Given the description of an element on the screen output the (x, y) to click on. 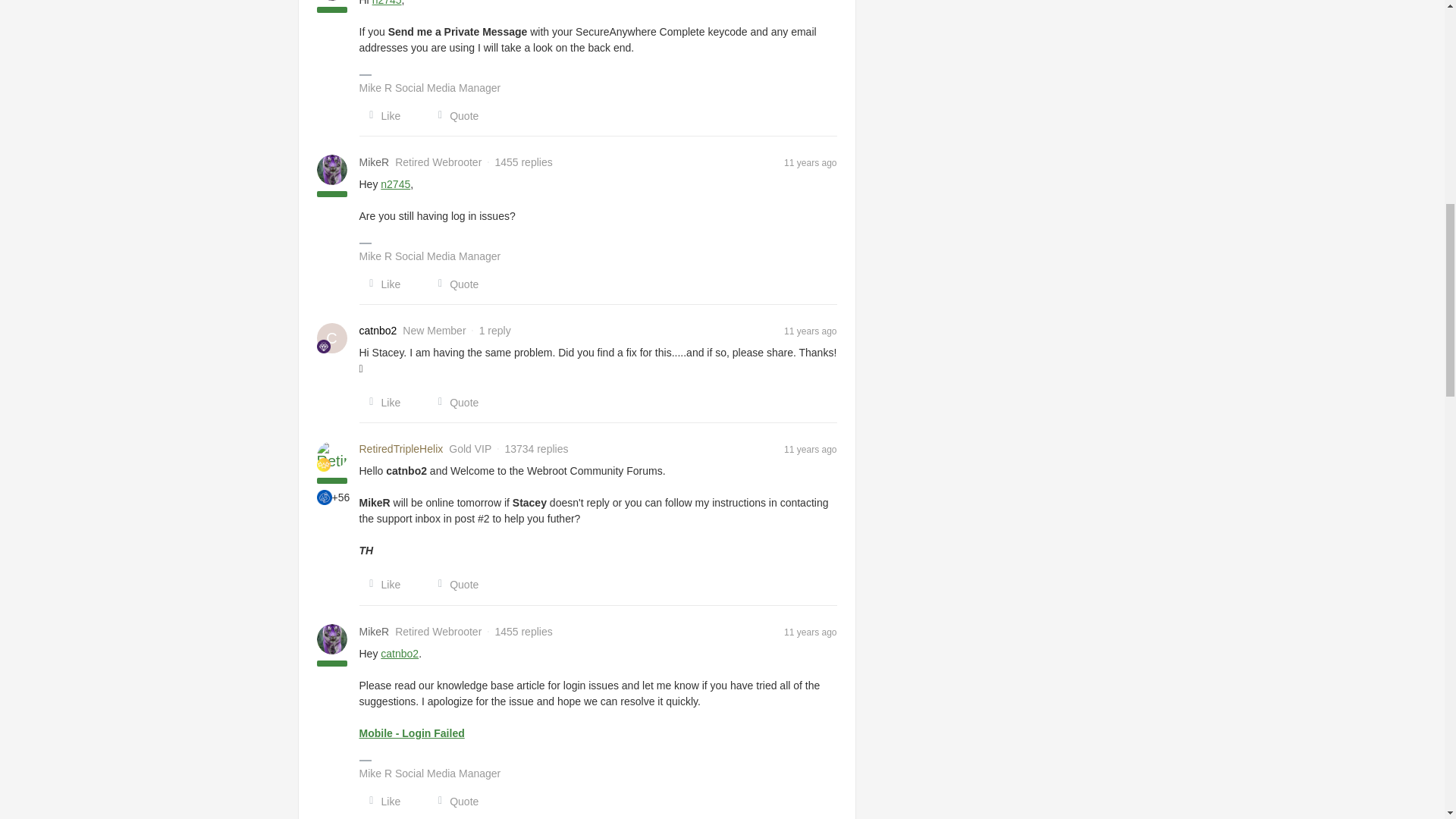
n2745 (395, 184)
n2745 (386, 2)
MikeR (374, 162)
Most Wanted (324, 497)
MikeR (374, 162)
catnbo2 (378, 330)
Like (380, 283)
New Member (323, 345)
MikeR (374, 631)
Quote (453, 115)
